Given the description of an element on the screen output the (x, y) to click on. 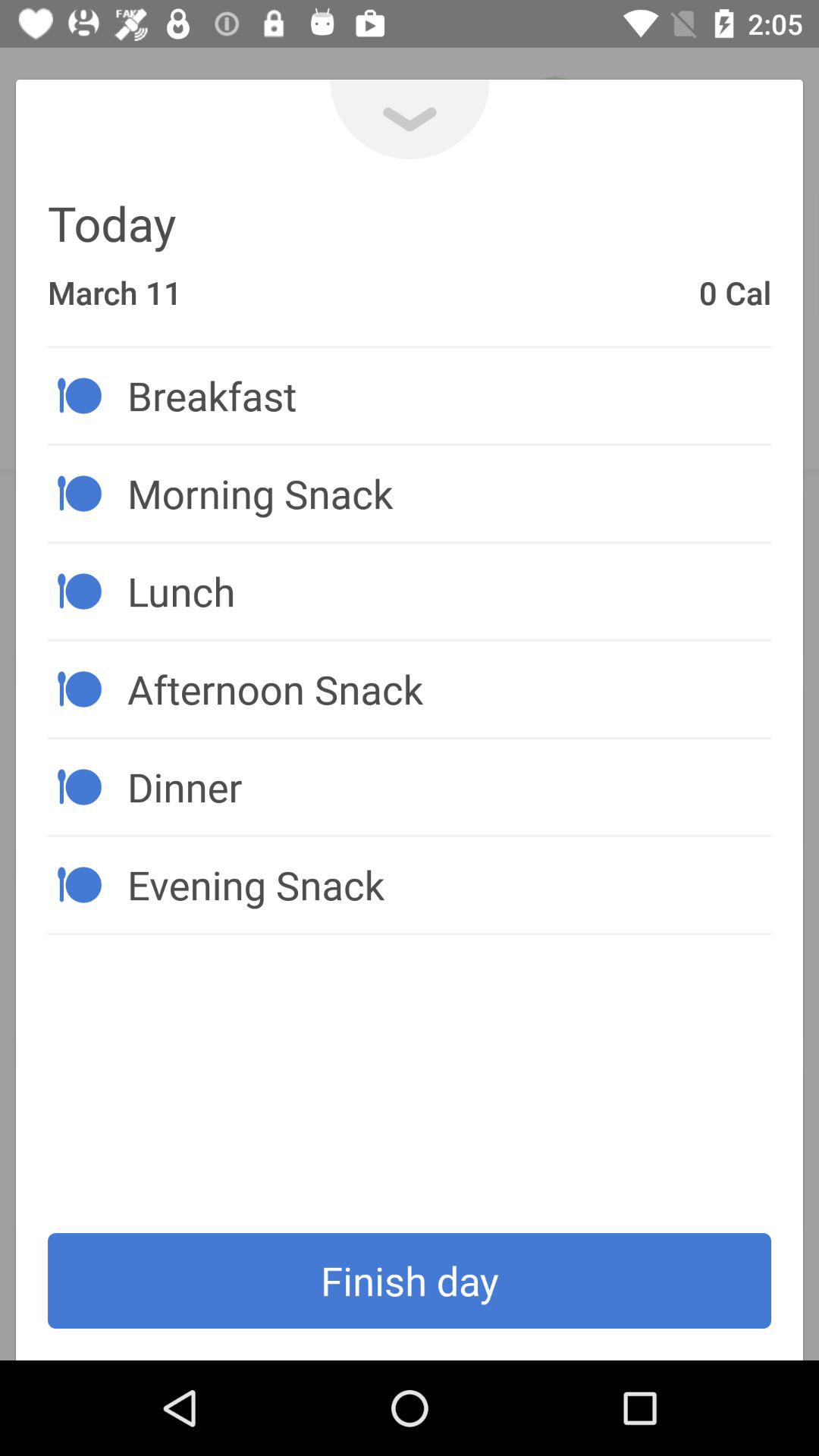
launch dinner item (449, 786)
